Given the description of an element on the screen output the (x, y) to click on. 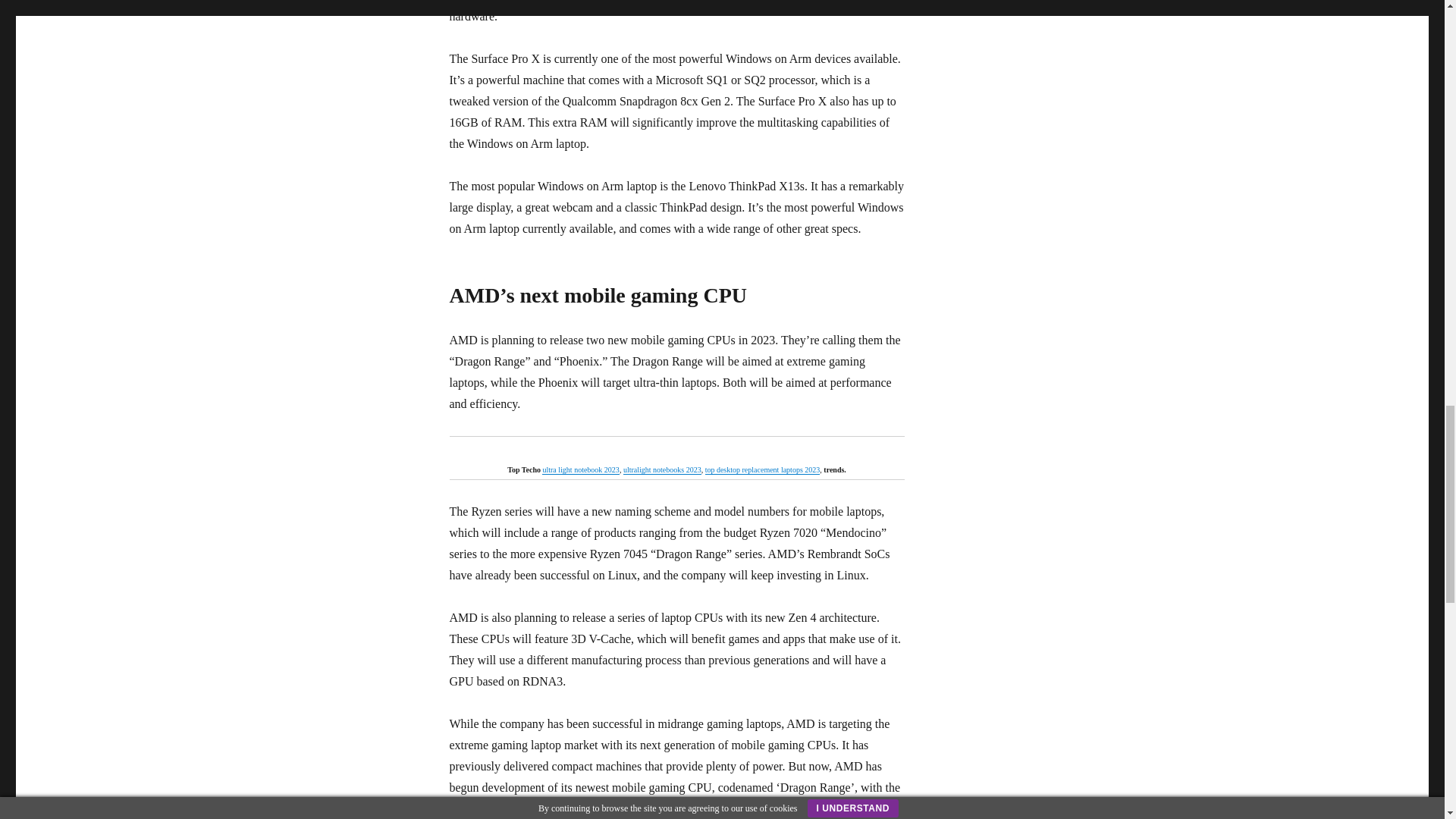
fastest processor 2023 (662, 470)
top desktop replacement laptops 2023 (762, 470)
ultra light notebook 2023 (579, 470)
highly recommended laptops (579, 470)
ultralight notebooks 2023 (662, 470)
ipad mini (762, 470)
